Given the description of an element on the screen output the (x, y) to click on. 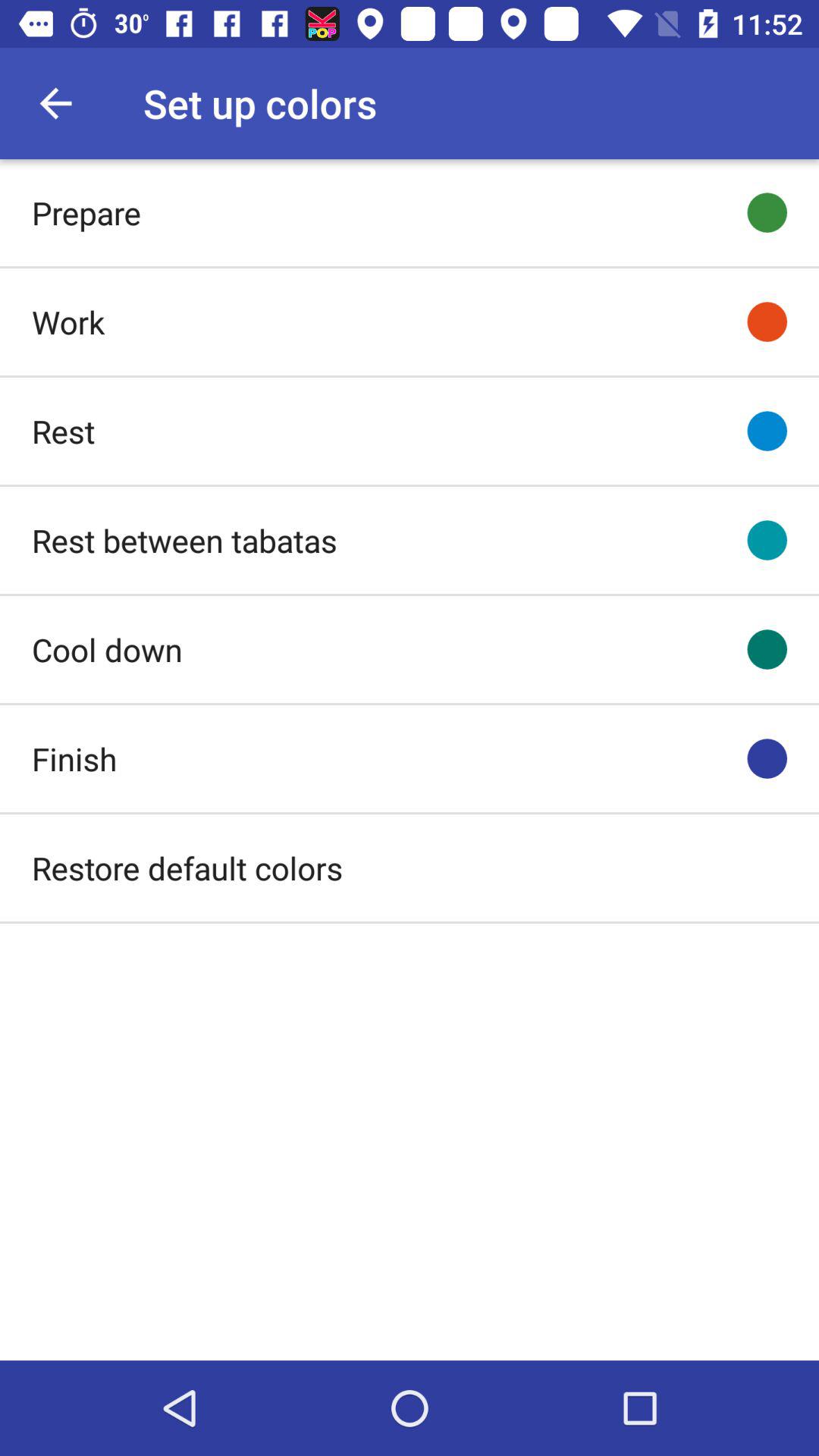
turn on rest between tabatas (184, 539)
